Given the description of an element on the screen output the (x, y) to click on. 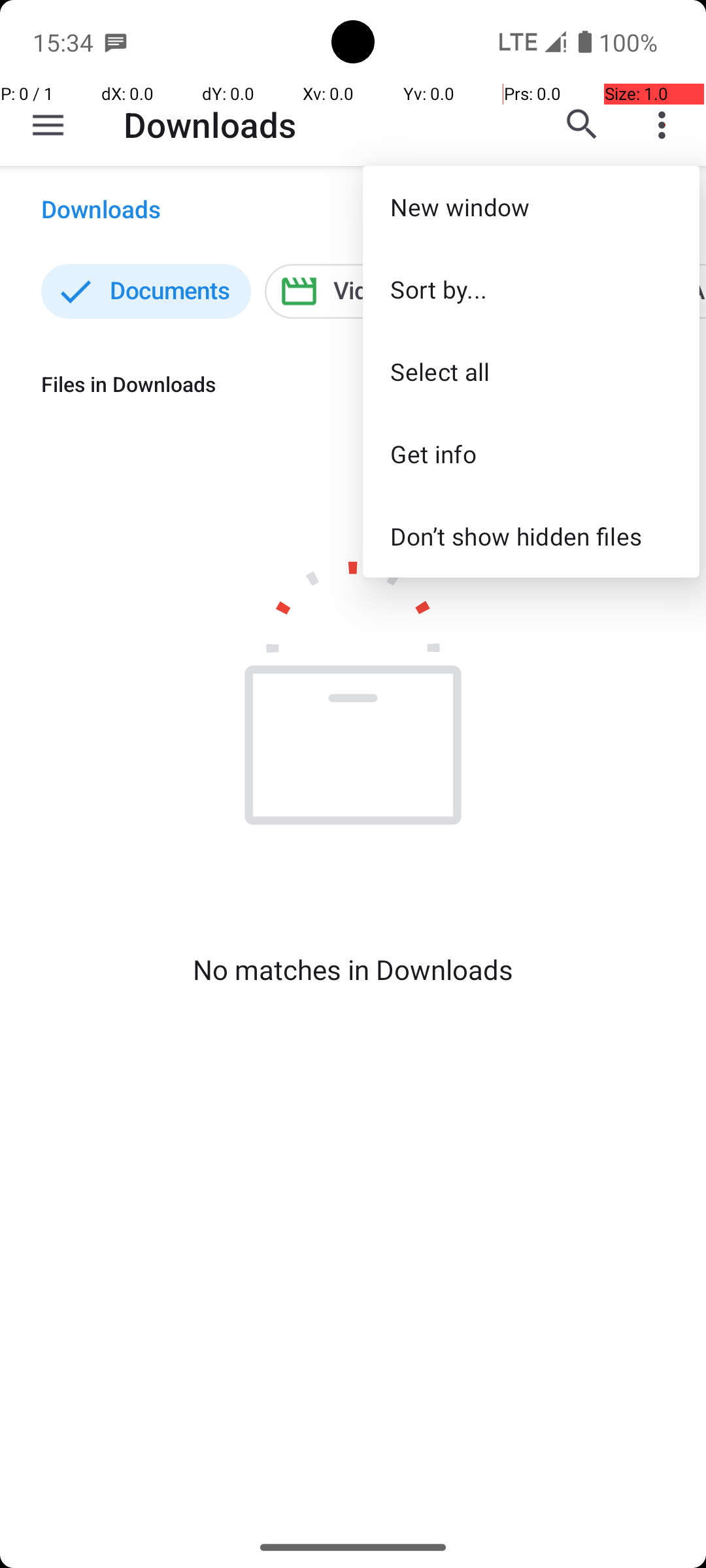
New window Element type: android.widget.TextView (531, 206)
Select all Element type: android.widget.TextView (531, 371)
Get info Element type: android.widget.TextView (531, 453)
Don’t show hidden files Element type: android.widget.TextView (531, 535)
